Given the description of an element on the screen output the (x, y) to click on. 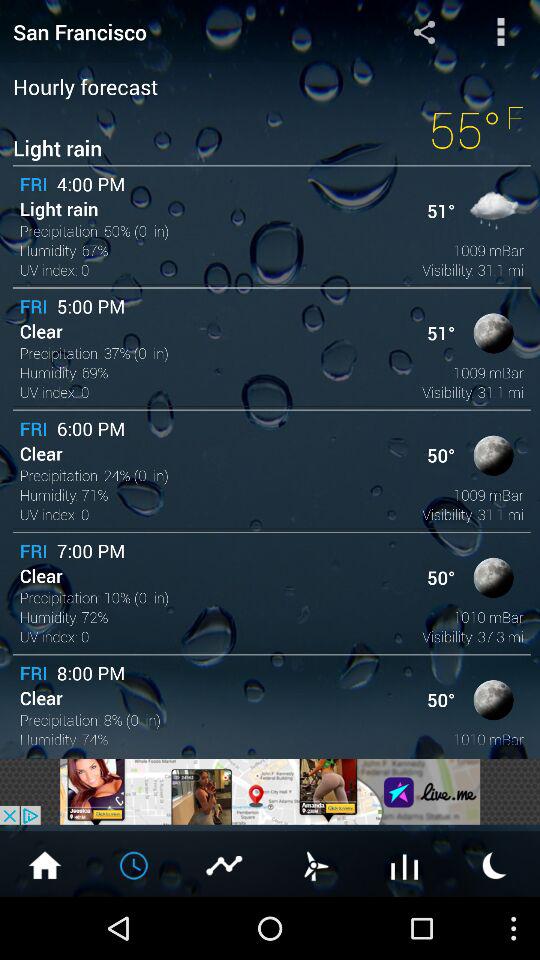
more options (500, 31)
